Given the description of an element on the screen output the (x, y) to click on. 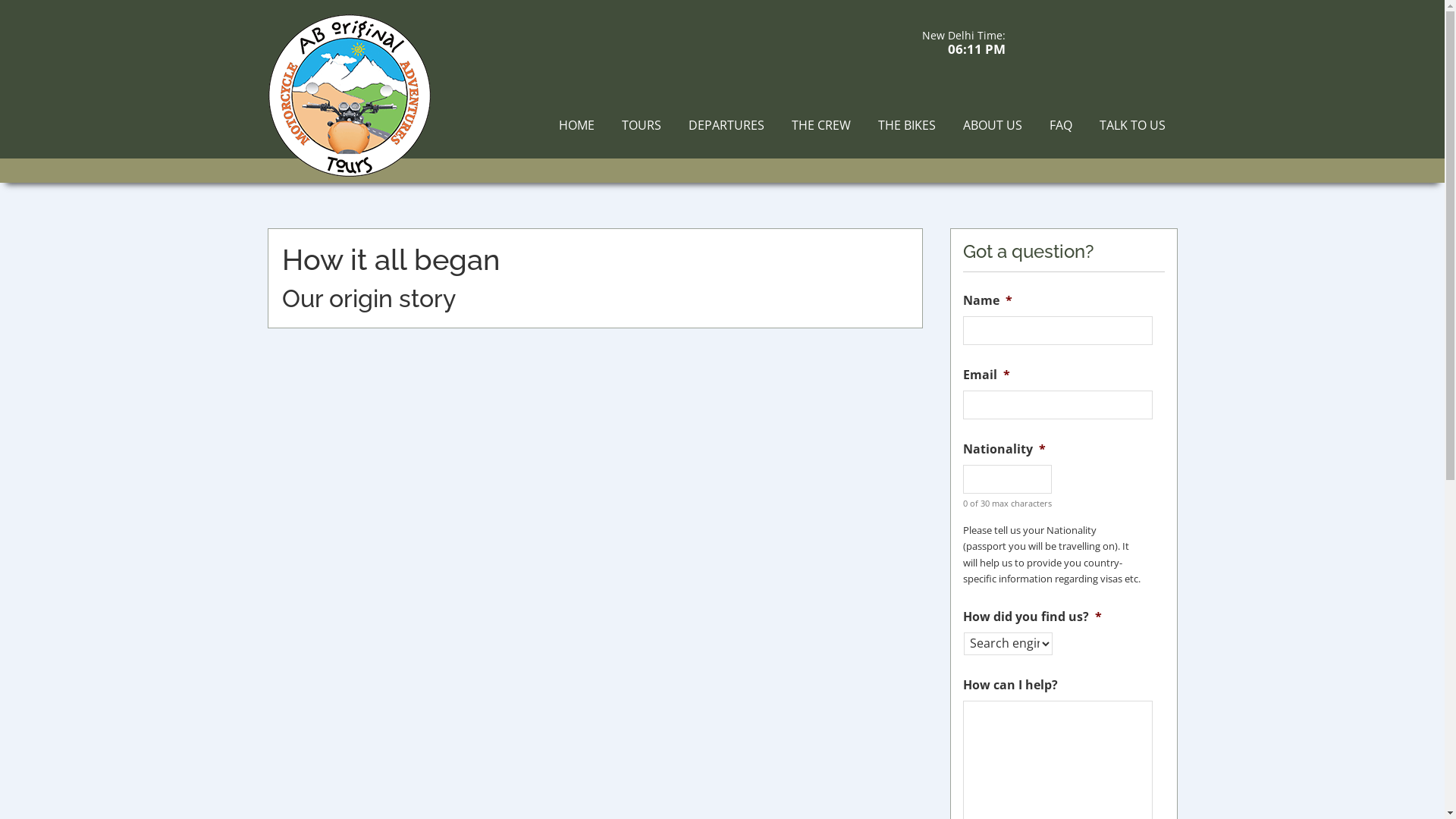
THE CREW Element type: text (820, 124)
TOURS Element type: text (641, 124)
HOME Element type: text (575, 124)
Skip to primary navigation Element type: text (0, 0)
Indian Motorcycle Tours Element type: hover (348, 149)
TALK TO US Element type: text (1132, 124)
FAQ Element type: text (1060, 124)
THE BIKES Element type: text (906, 124)
ABOUT US Element type: text (992, 124)
DEPARTURES Element type: text (726, 124)
